Given the description of an element on the screen output the (x, y) to click on. 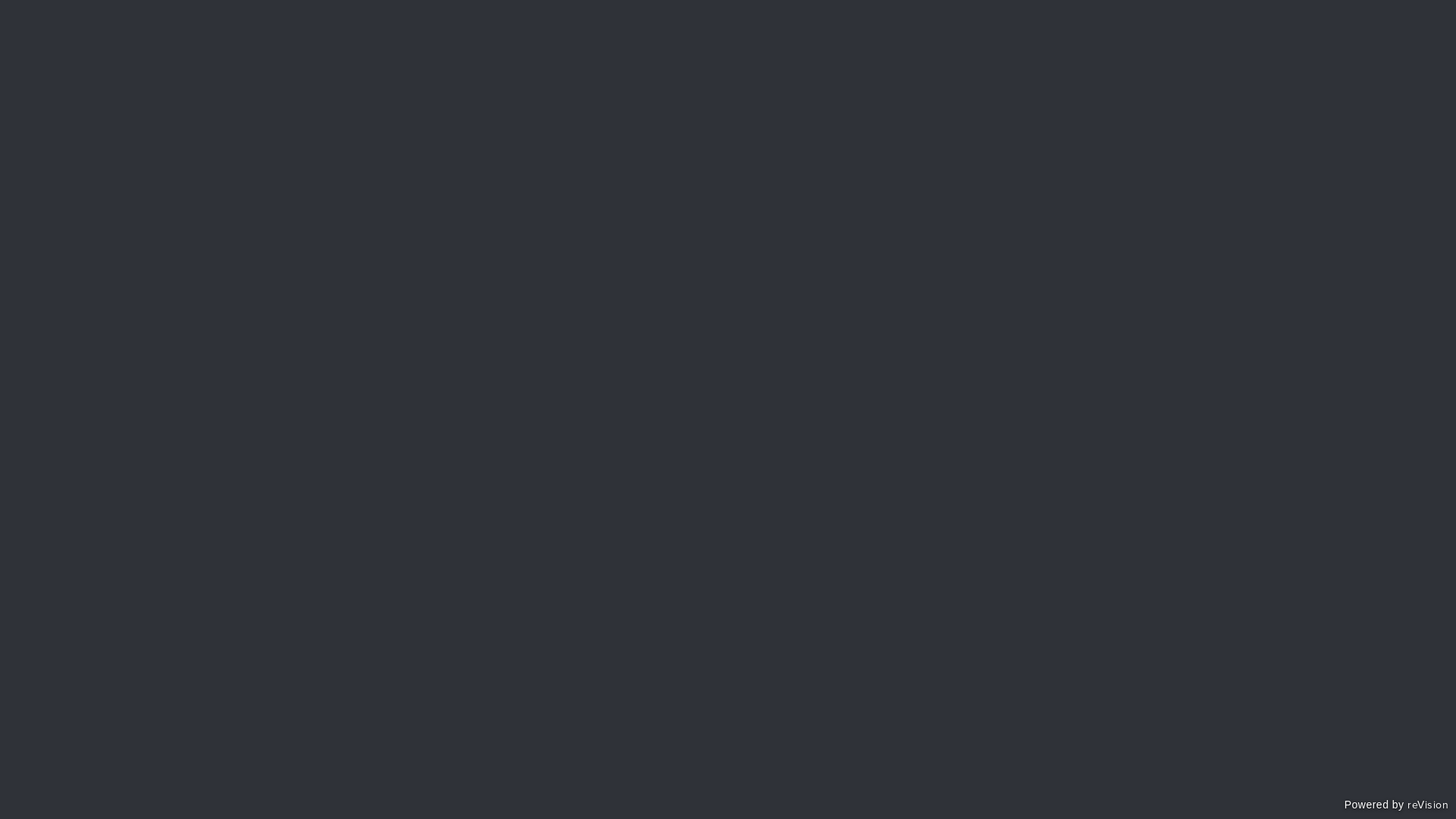
reVision Element type: text (1427, 806)
